Given the description of an element on the screen output the (x, y) to click on. 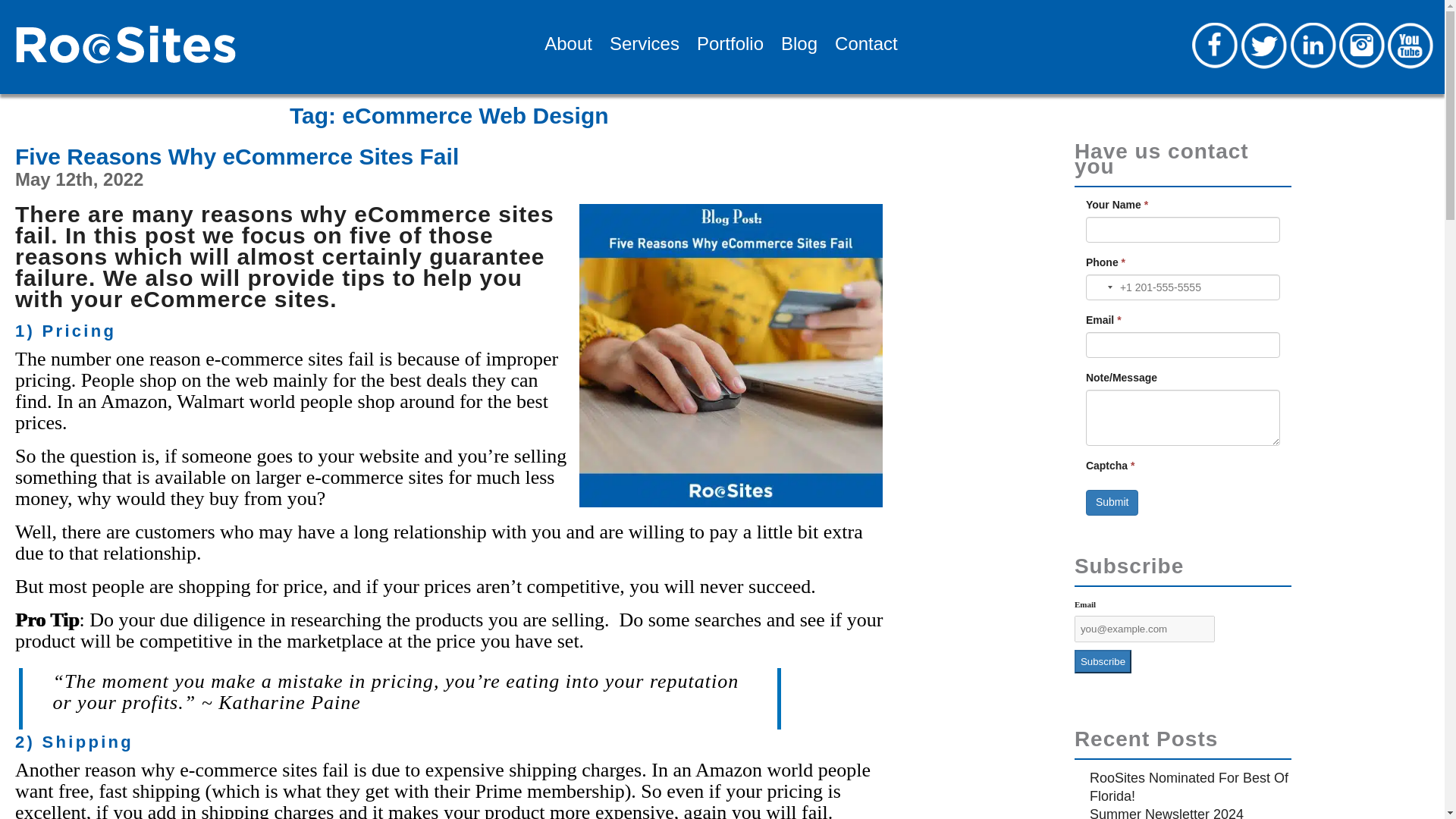
Subscribe (1102, 661)
Contact (857, 48)
Services (635, 48)
About (559, 48)
Portfolio (720, 48)
Blog (789, 48)
Five Reasons Why eCommerce Sites Fail (236, 156)
